Given the description of an element on the screen output the (x, y) to click on. 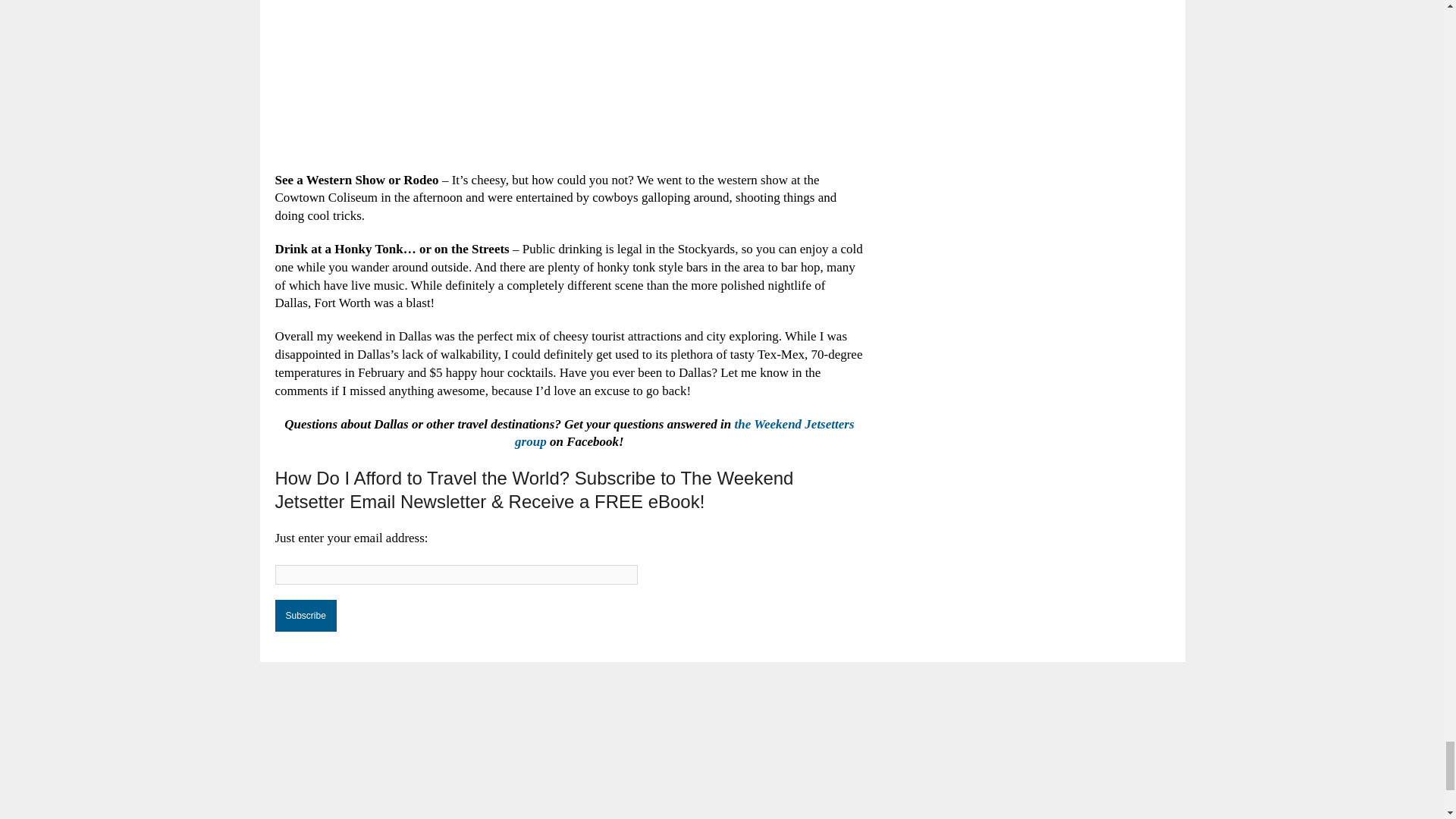
the Weekend Jetsetters group (684, 432)
Subscribe (305, 615)
Subscribe (305, 615)
